Given the description of an element on the screen output the (x, y) to click on. 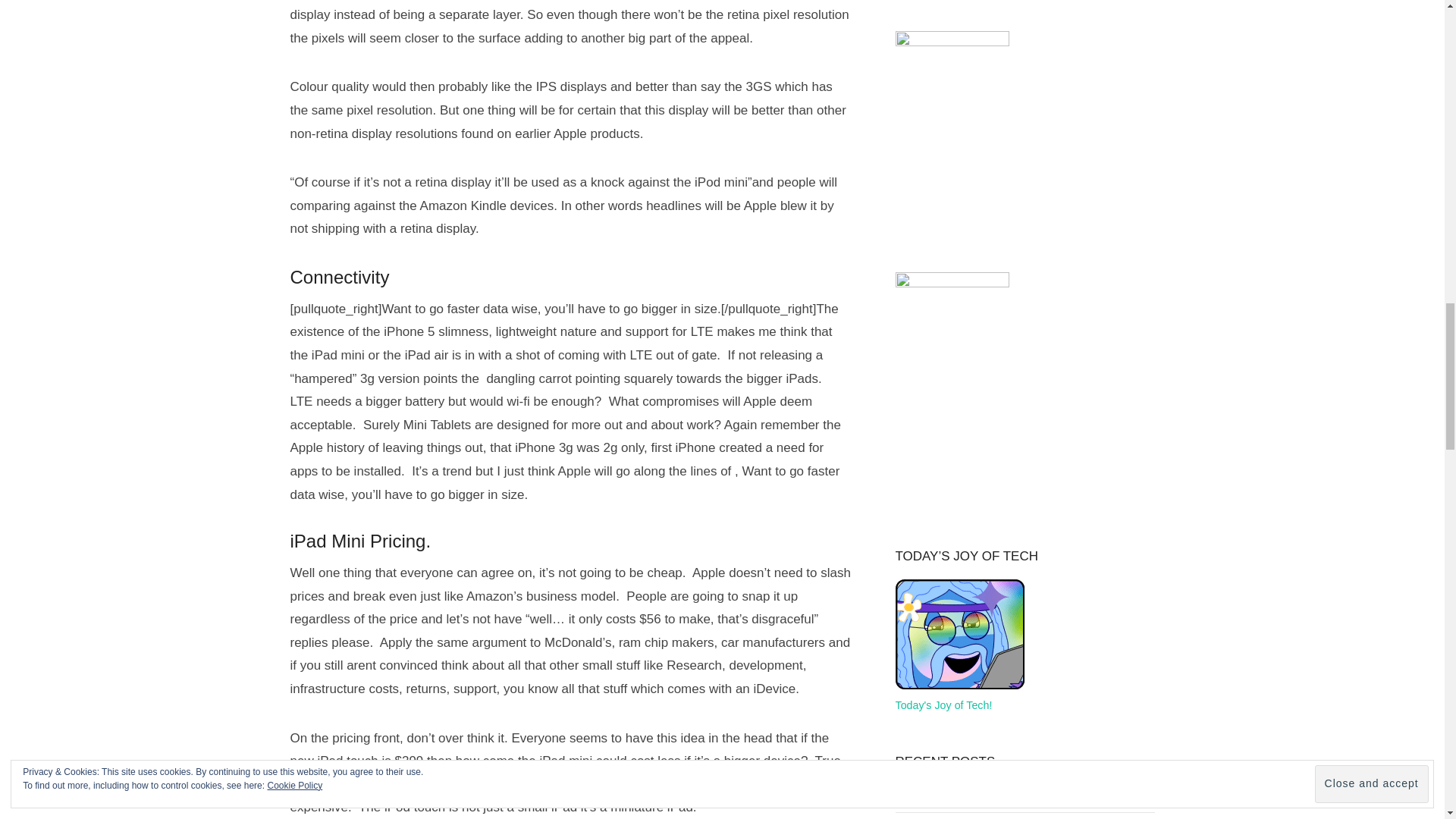
Today's Joy of Tech! (959, 695)
Essential Apple Podcast 299: Pre WWDC (994, 793)
